Given the description of an element on the screen output the (x, y) to click on. 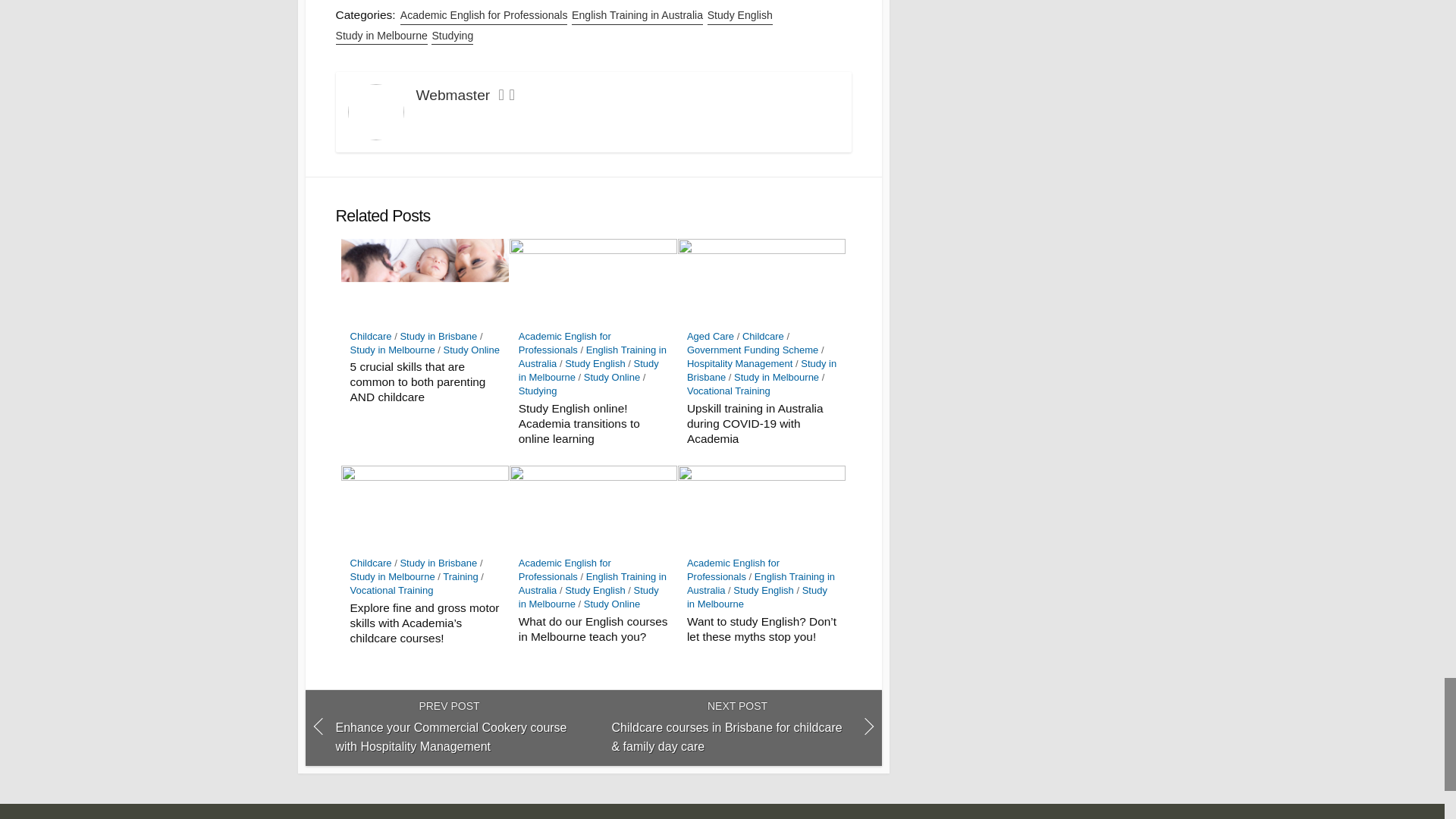
Study English (740, 15)
Studying (451, 36)
English Training in Australia (637, 15)
Academic English for Professionals (483, 15)
Study in Melbourne (380, 36)
